Given the description of an element on the screen output the (x, y) to click on. 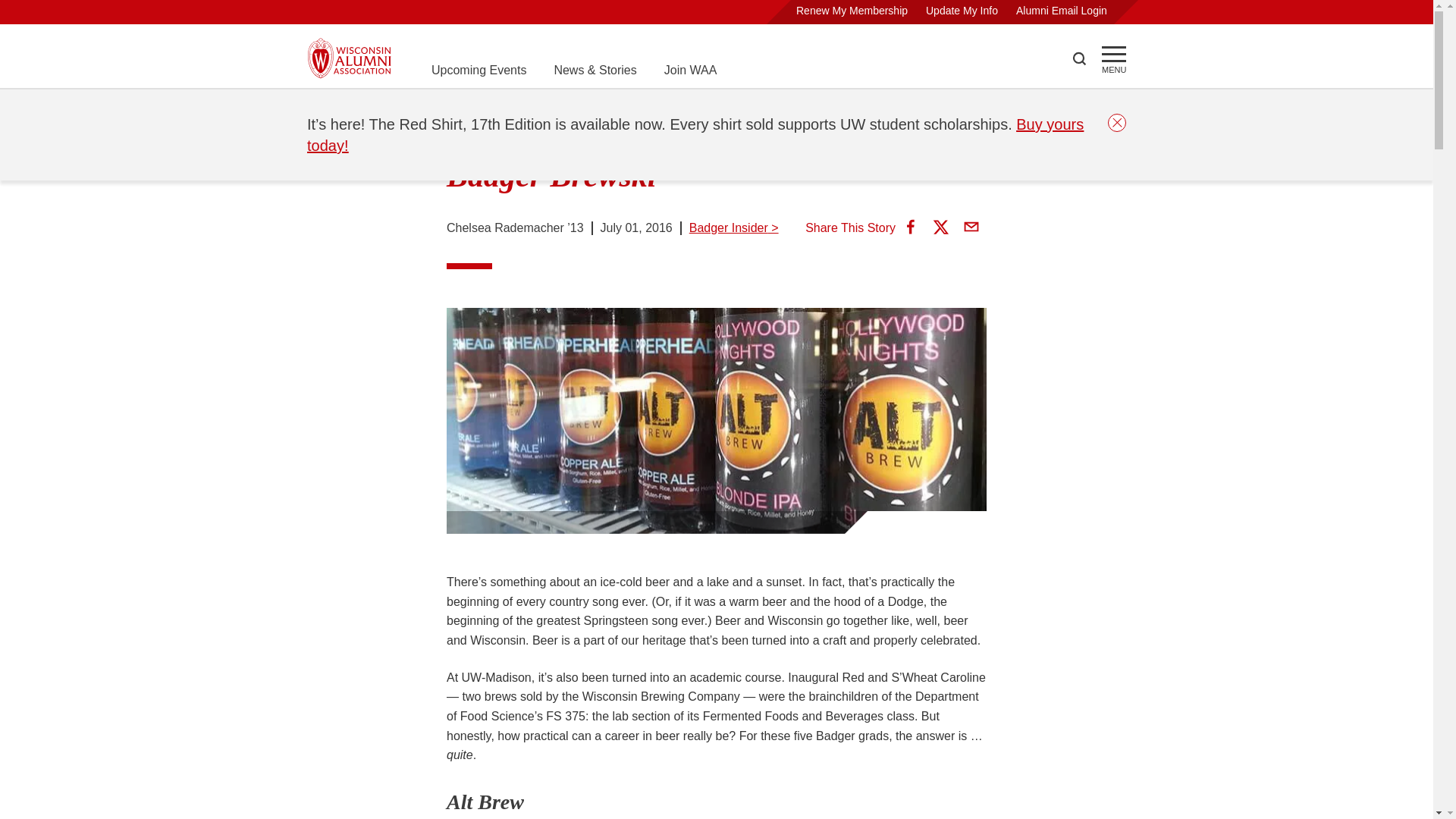
Alumni Email Login (1061, 10)
Home (322, 107)
Update My Info (961, 10)
Upcoming Events (477, 70)
Renew My Membership (851, 10)
Badger Insider (468, 107)
Join WAA (690, 70)
